Given the description of an element on the screen output the (x, y) to click on. 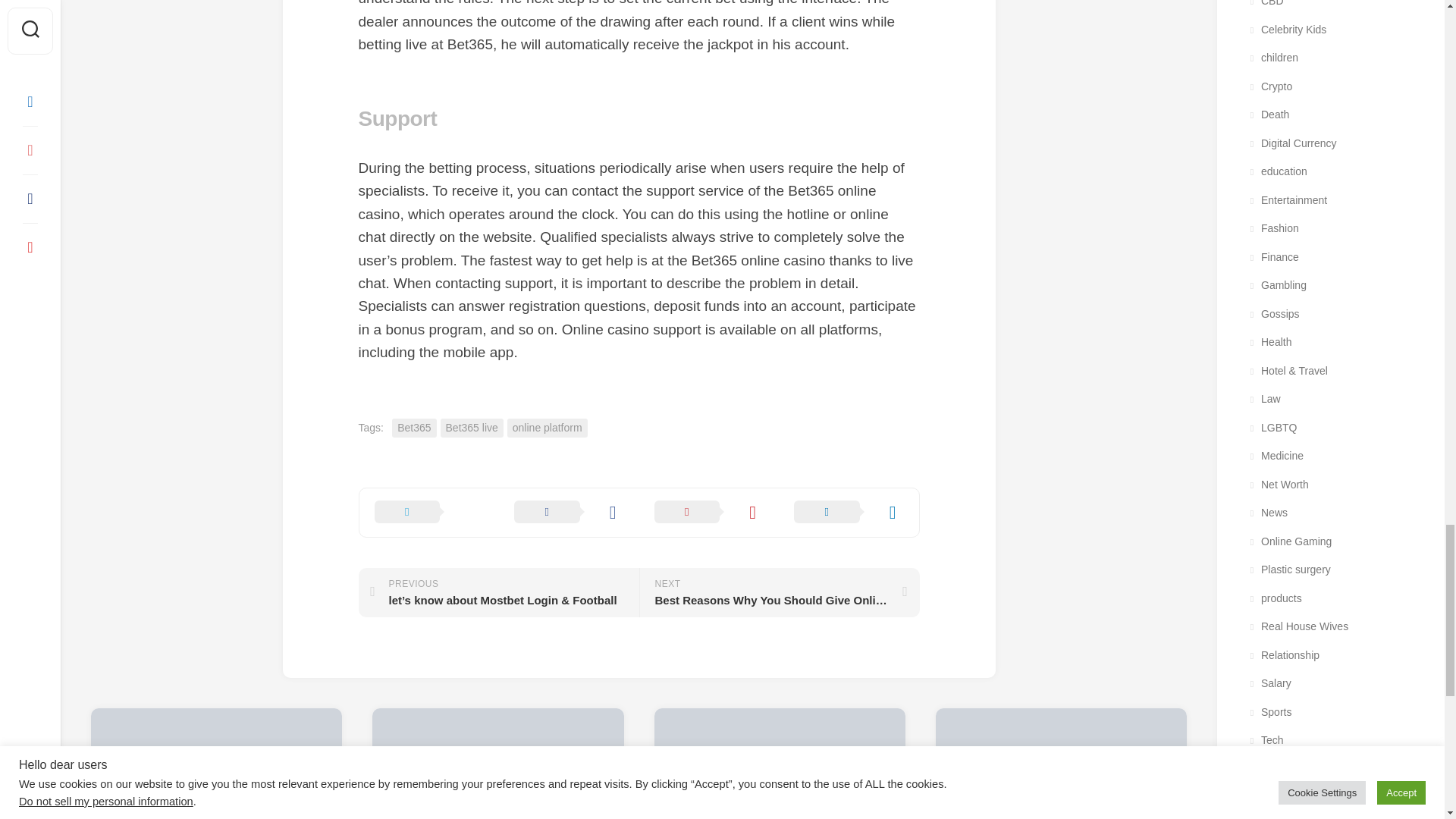
Share on Facebook (569, 512)
Share on X (429, 512)
Share on Pinterest (708, 512)
Share on LinkedIn (848, 512)
